Given the description of an element on the screen output the (x, y) to click on. 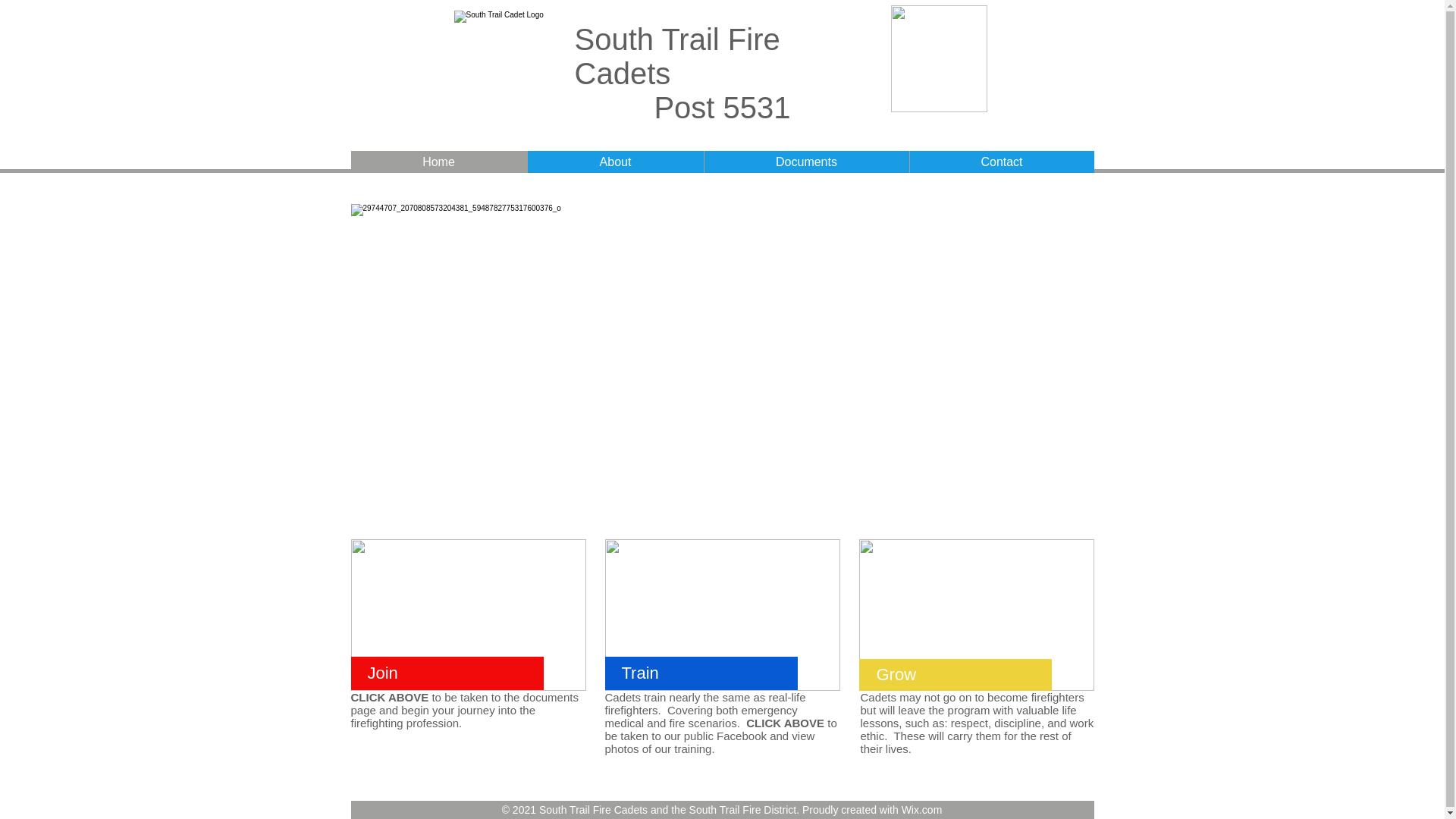
Contact (1000, 161)
Home (437, 161)
Documents (805, 161)
Wix.com (921, 809)
Join (381, 672)
About (614, 161)
Train (640, 672)
South Trail Fire Cadets (677, 56)
